Given the description of an element on the screen output the (x, y) to click on. 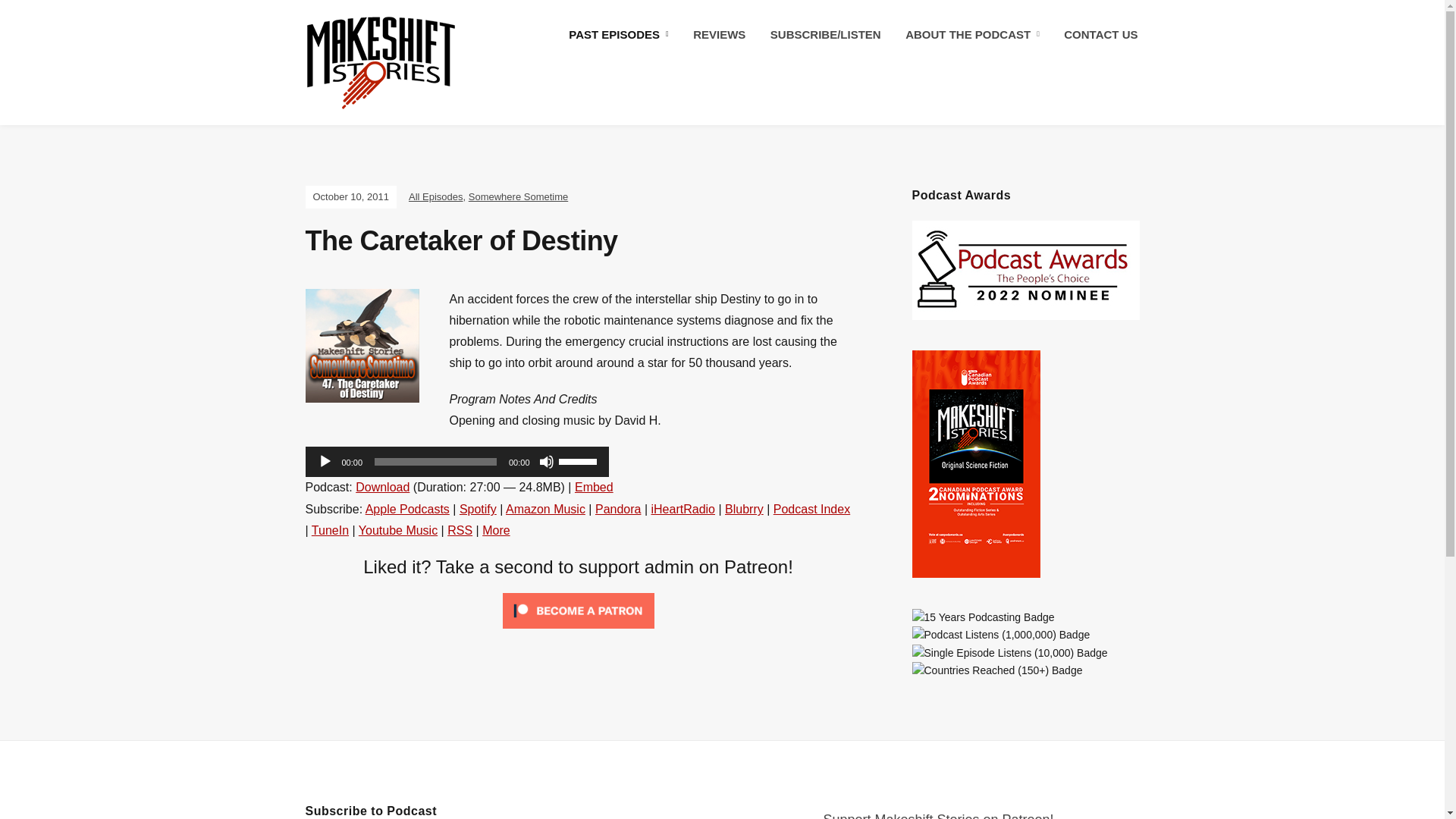
Download (382, 486)
More (495, 530)
15 Years Podcasting Badge (982, 617)
Subscribe via RSS (458, 530)
ABOUT THE PODCAST (972, 34)
Subscribe on Amazon Music (545, 508)
CONTACT US (1100, 34)
Subscribe on Apple Podcasts (407, 508)
Subscribe on Pandora (618, 508)
Subscribe on Blubrry (743, 508)
Play (324, 461)
Somewhere Sometime (518, 196)
Subscribe on iHeartRadio (682, 508)
REVIEWS (718, 34)
47. The Caretaker of Destiny (361, 345)
